Given the description of an element on the screen output the (x, y) to click on. 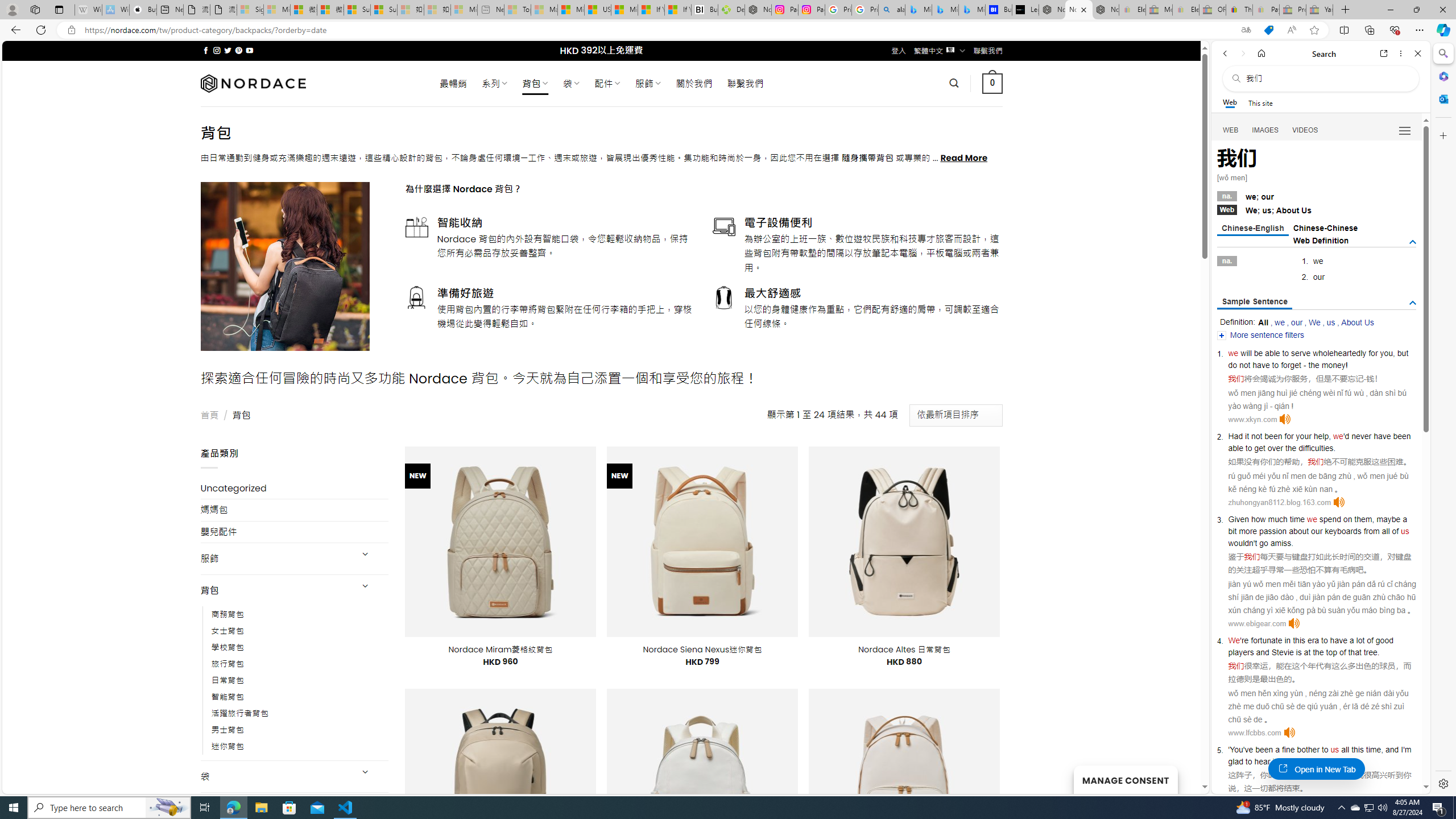
Payments Terms of Use | eBay.com - Sleeping (1265, 9)
Top Stories - MSN - Sleeping (517, 9)
